Given the description of an element on the screen output the (x, y) to click on. 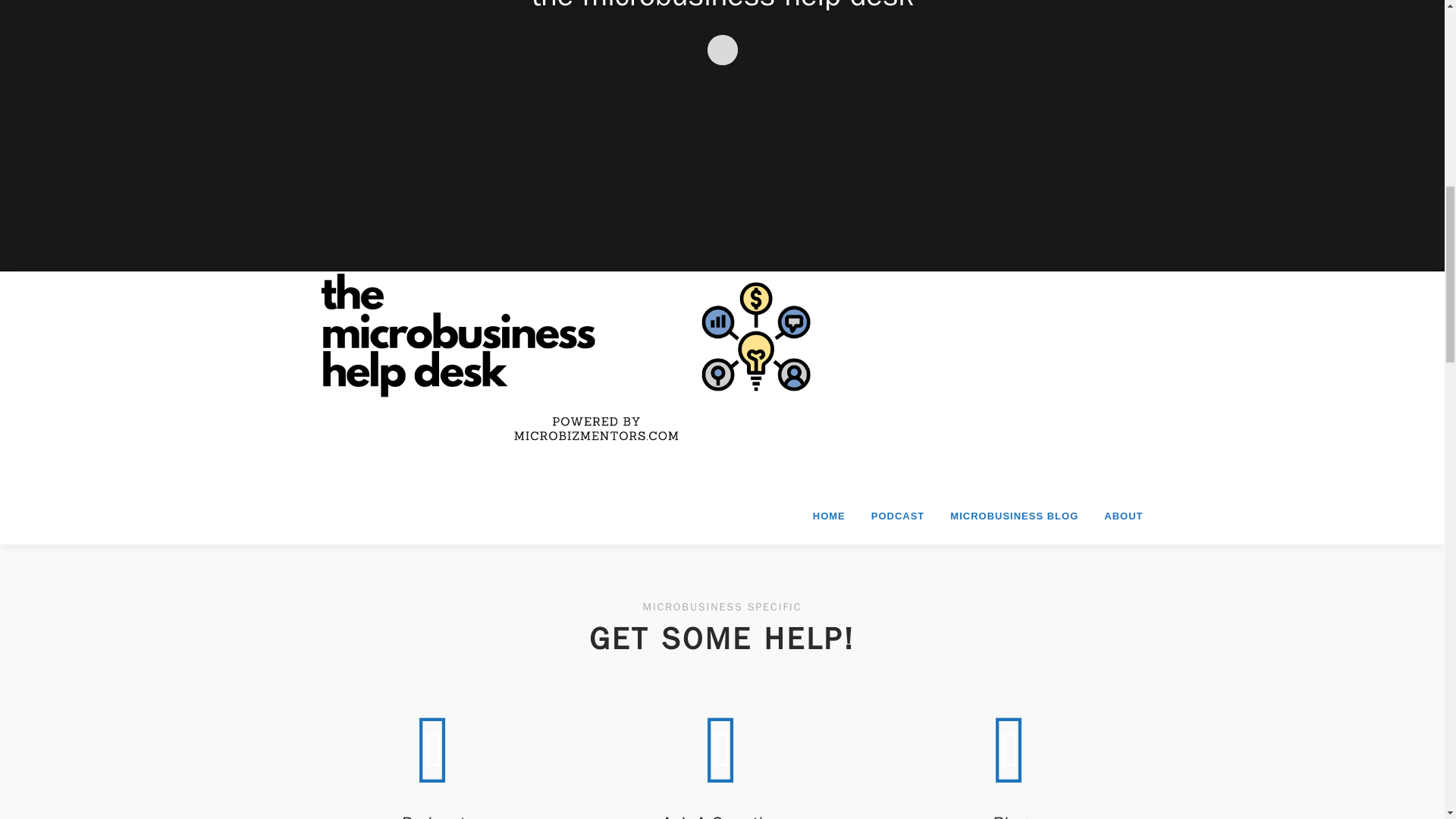
Blog (1009, 815)
PODCAST (898, 515)
Ask A Question (722, 815)
Podcast (434, 815)
Blog (1009, 815)
Ask A Question (722, 815)
Podcast (434, 815)
Blog (1009, 749)
ABOUT (1116, 515)
MICROBUSINESS BLOG (1013, 515)
